Given the description of an element on the screen output the (x, y) to click on. 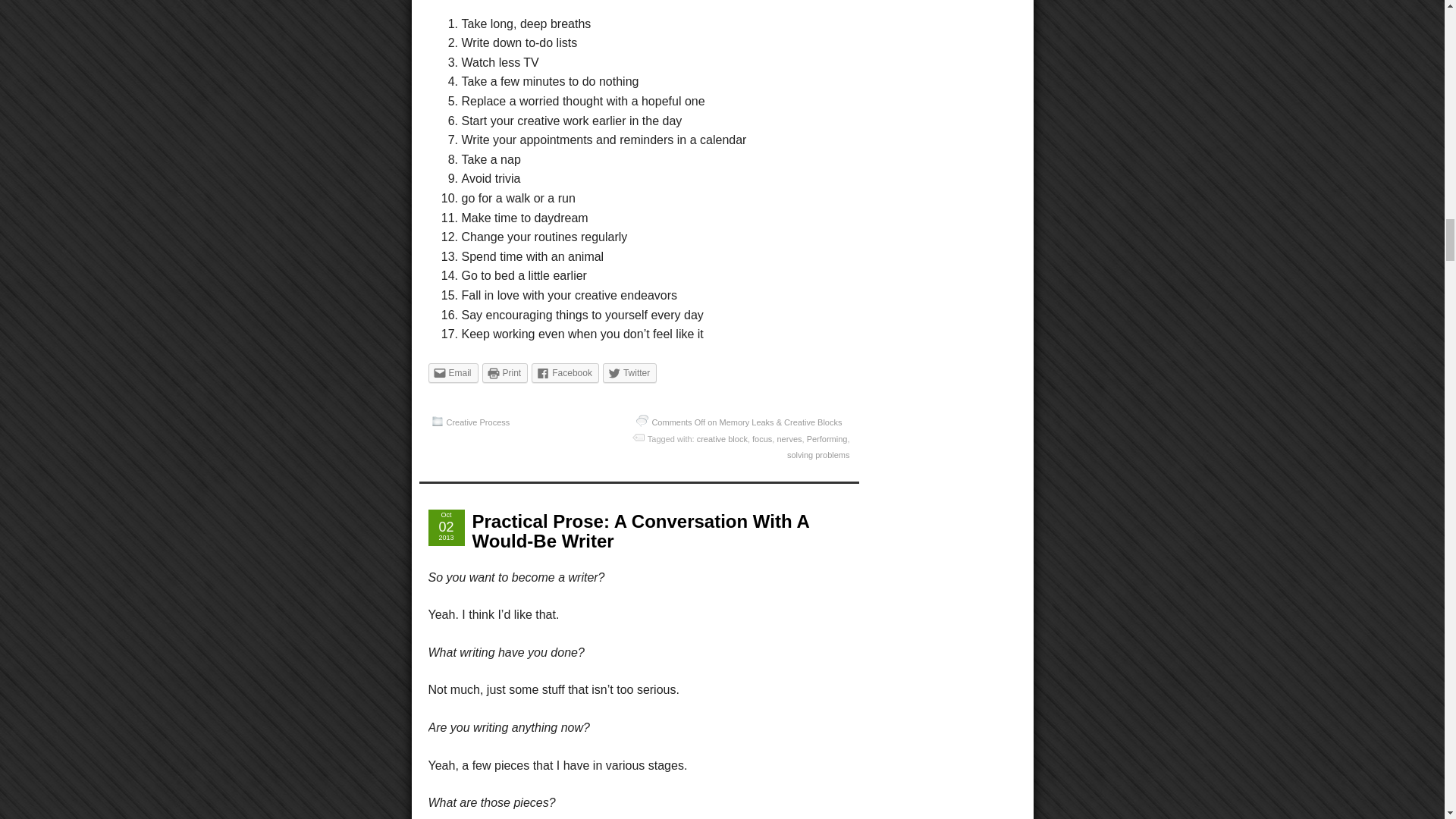
Click to email this to a friend (452, 373)
Click to print (504, 373)
